Given the description of an element on the screen output the (x, y) to click on. 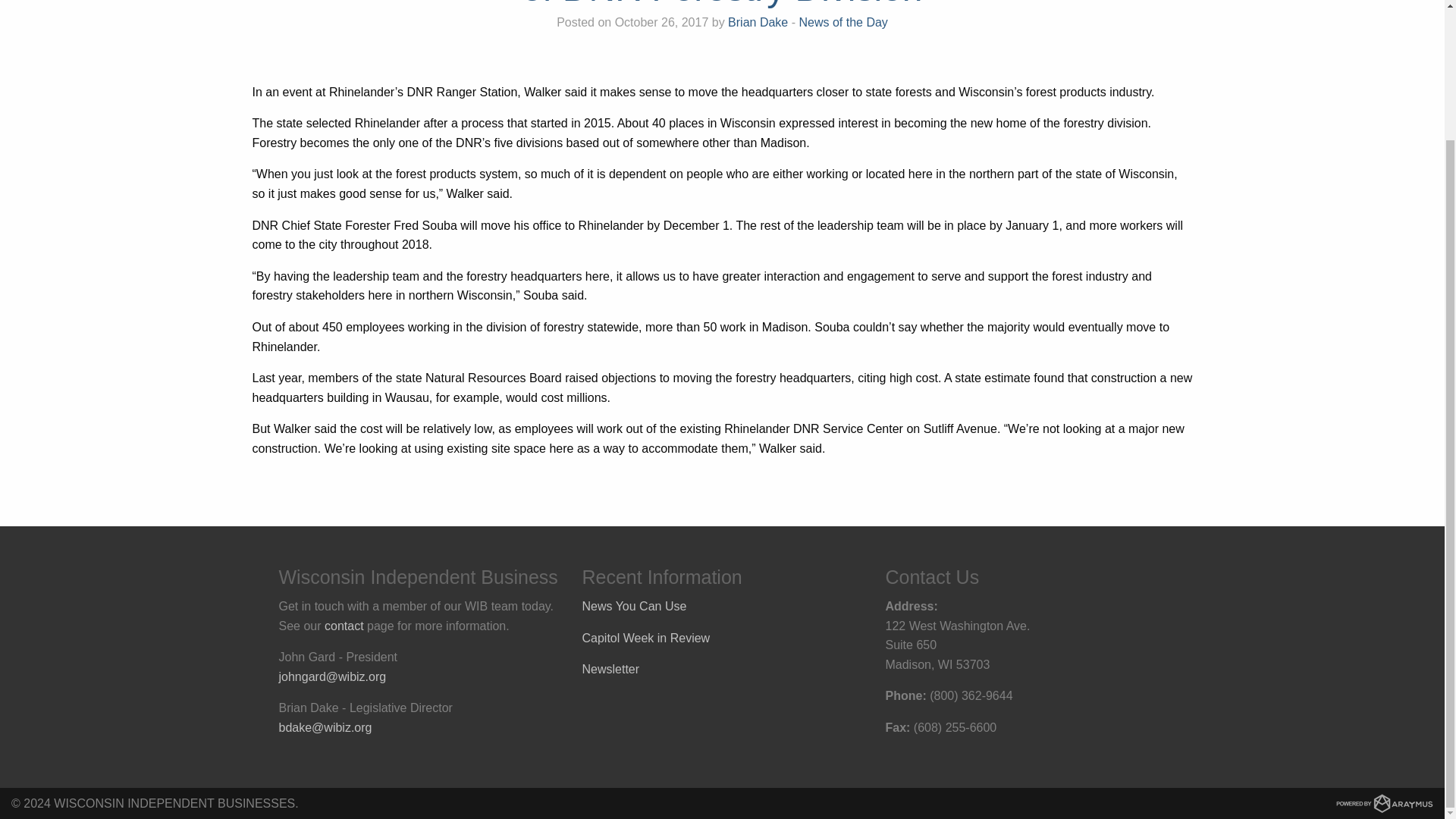
News You Can Use (634, 605)
Posts by Brian Dake (757, 21)
Newsletter (611, 668)
contact (344, 625)
Brian Dake (757, 21)
News of the Day (841, 21)
Capitol Week in Review (646, 637)
